Given the description of an element on the screen output the (x, y) to click on. 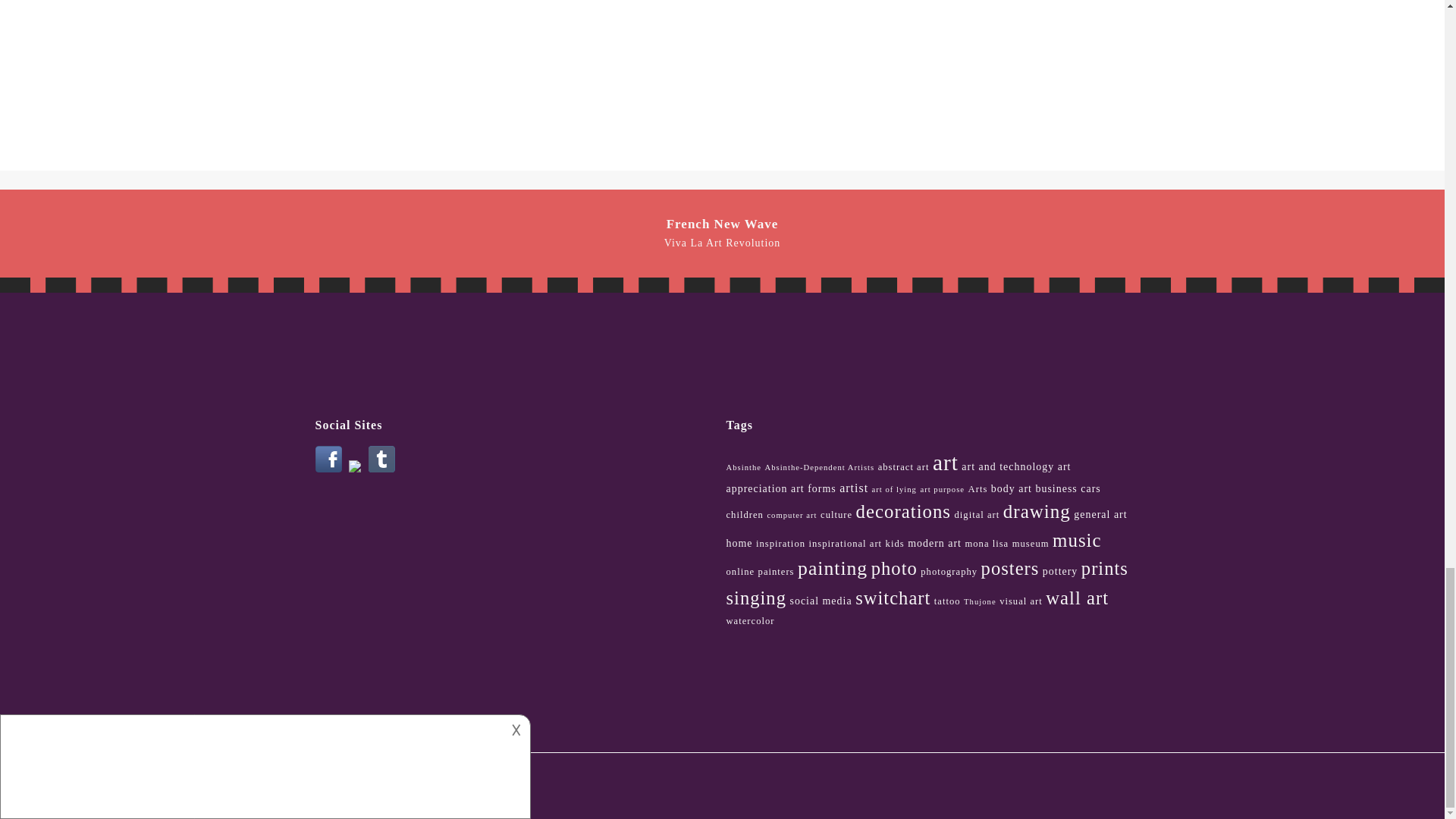
YouTube video player (1015, 68)
